Given the description of an element on the screen output the (x, y) to click on. 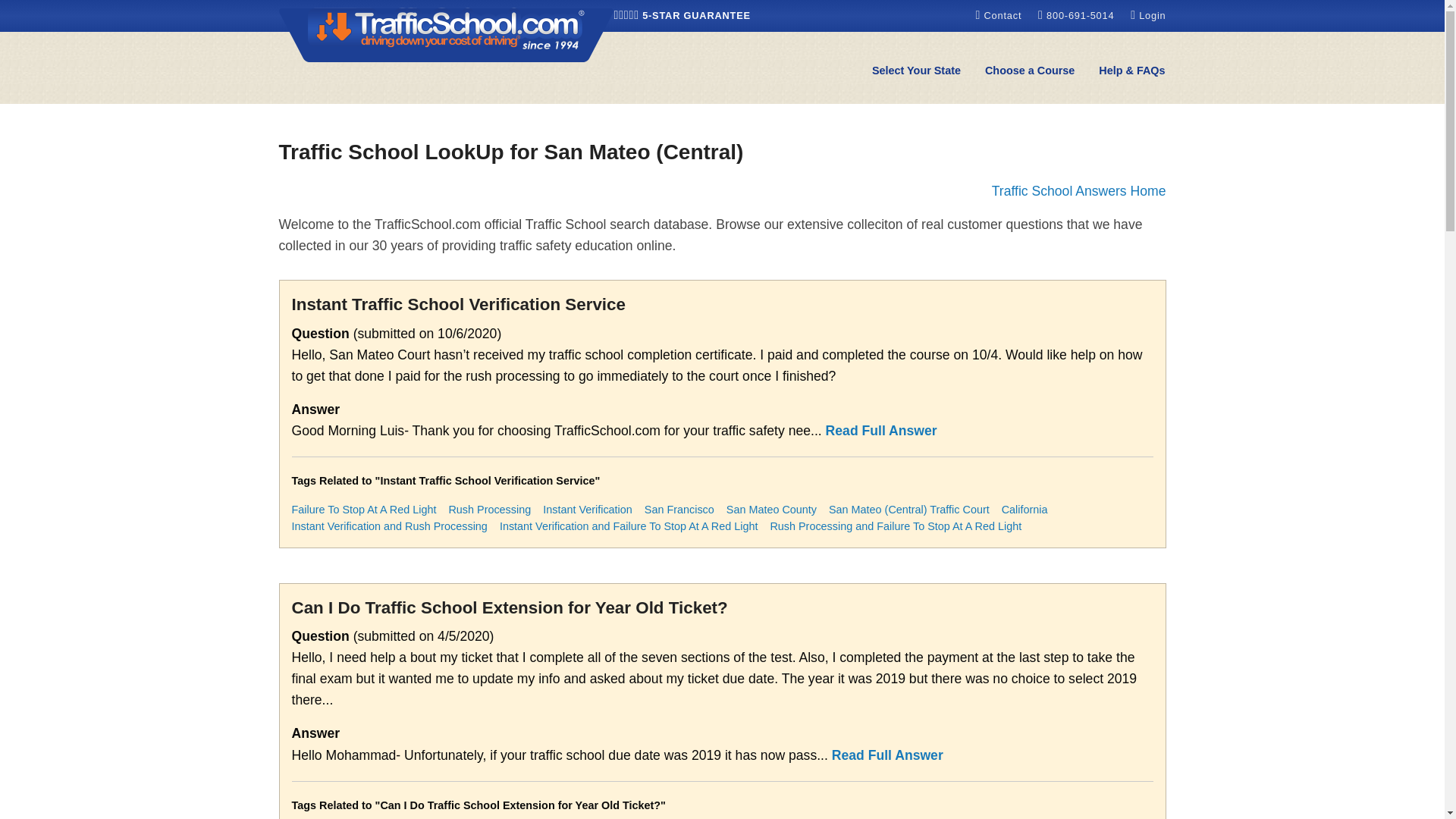
Help and FAQs (1131, 70)
Instant Verification and Failure To Stop At A Red Light (628, 526)
Traffic School Answers Home (1078, 191)
Failure To Stop At A Red Light (363, 509)
Traffic School Answers Home (1078, 191)
San Mateo County (771, 509)
Traffic School Official Site (446, 34)
San Francisco (679, 509)
800-691-5014 (1078, 15)
Read Full Answer (881, 430)
Call Traffic School (1078, 15)
Contact (1000, 15)
Login (1148, 15)
Choose a Course (1029, 70)
Returning Student? Login to Course Here (1148, 15)
